Given the description of an element on the screen output the (x, y) to click on. 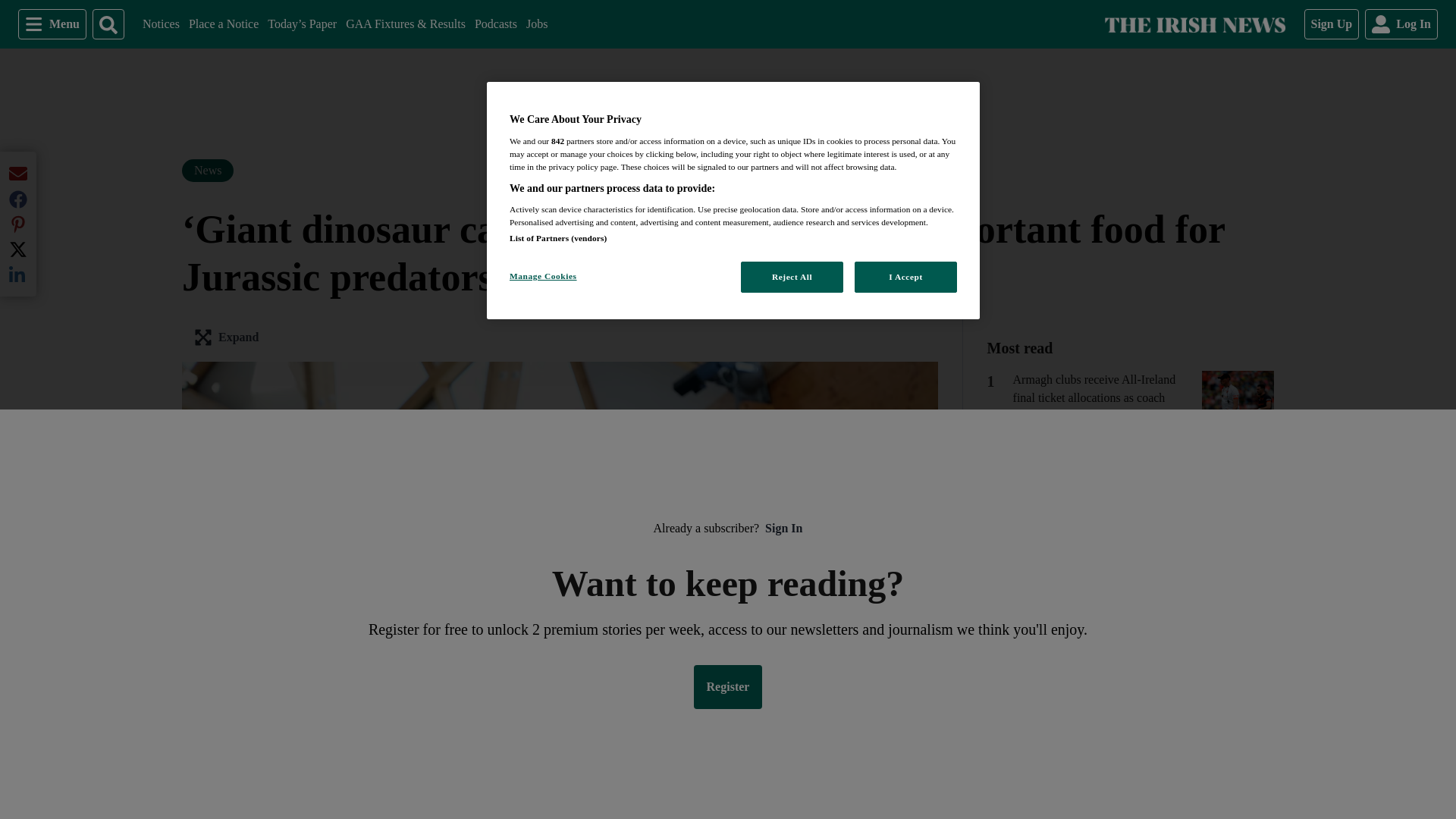
Sign Up (1331, 24)
Podcasts (495, 24)
Menu (536, 24)
Log In (51, 24)
The Irish News (224, 24)
